Given the description of an element on the screen output the (x, y) to click on. 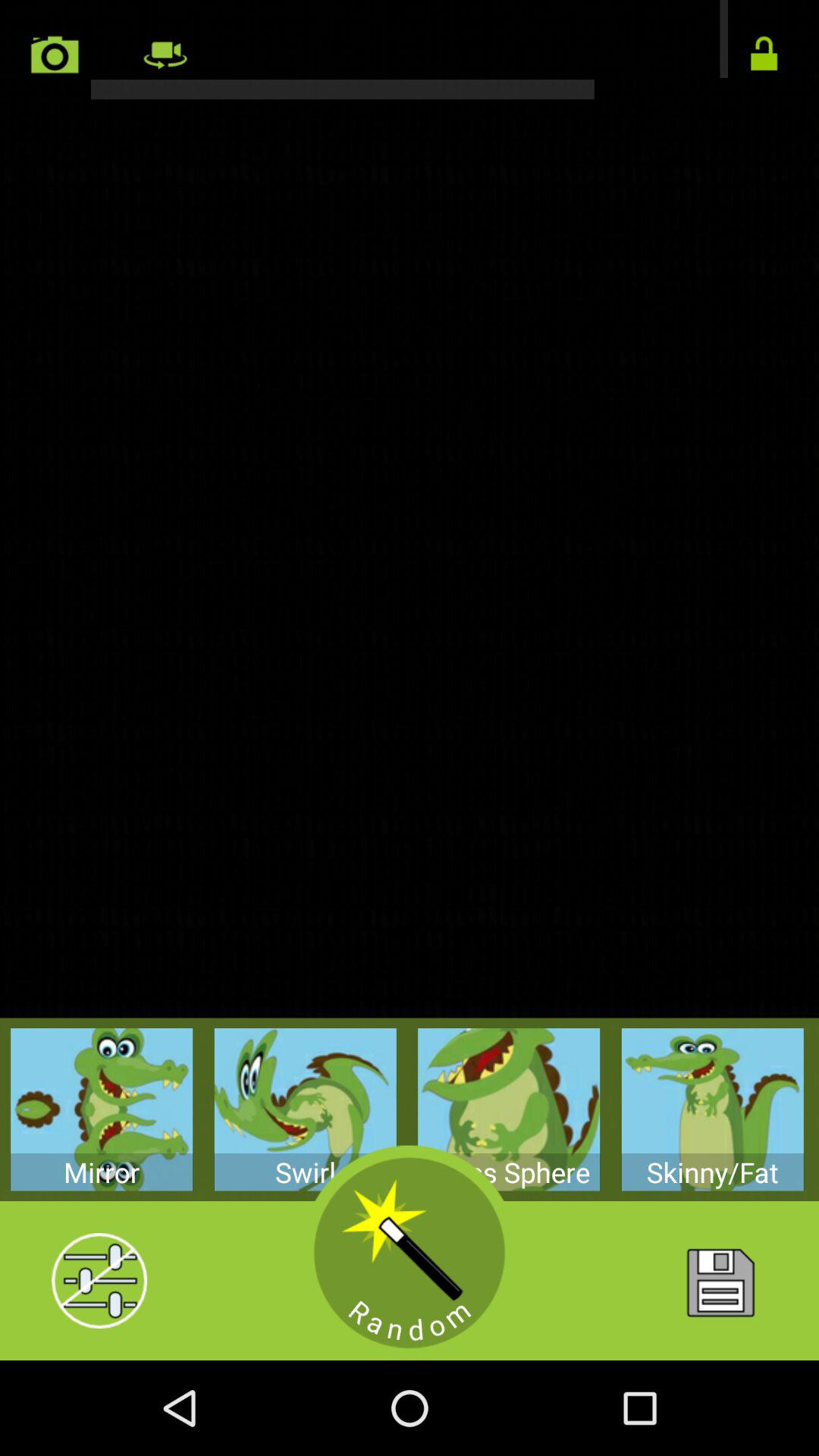
go back (409, 49)
